Given the description of an element on the screen output the (x, y) to click on. 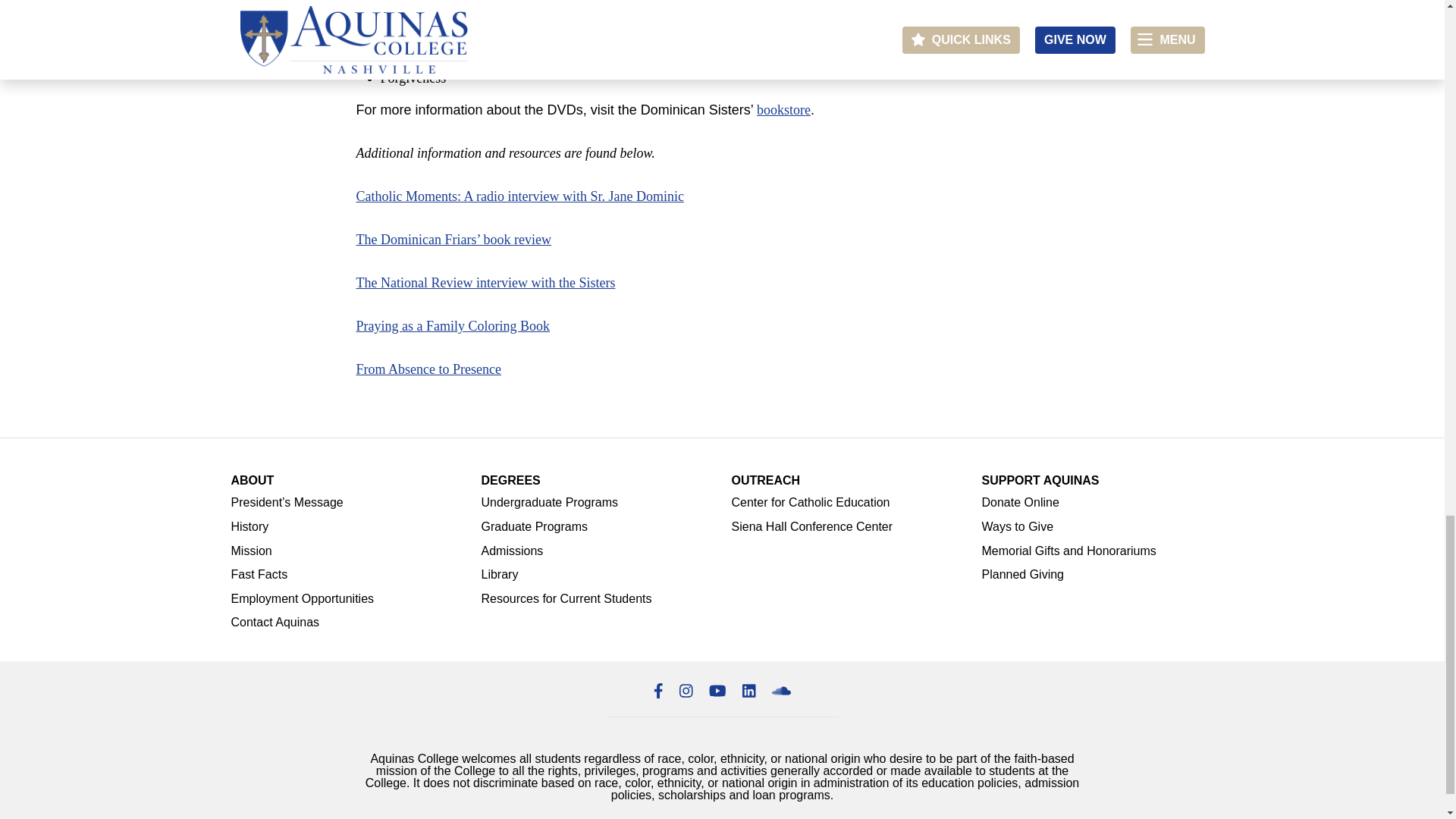
Graduate Programs (596, 528)
Siena Hall Conference Center (846, 528)
History (346, 528)
Library (596, 576)
Employment Opportunities (346, 600)
Praying as a Family Coloring Book (453, 325)
Undergraduate Programs (596, 504)
Contact Aquinas (346, 624)
Admissions (596, 553)
The National Review interview with the Sisters (485, 282)
Catholic Moments: A radio interview with Sr. Jane Dominic (520, 196)
Planned Giving (1096, 576)
Memorial Gifts and Honorariums (1096, 553)
Mission (346, 553)
From Absence to Presence (428, 368)
